Given the description of an element on the screen output the (x, y) to click on. 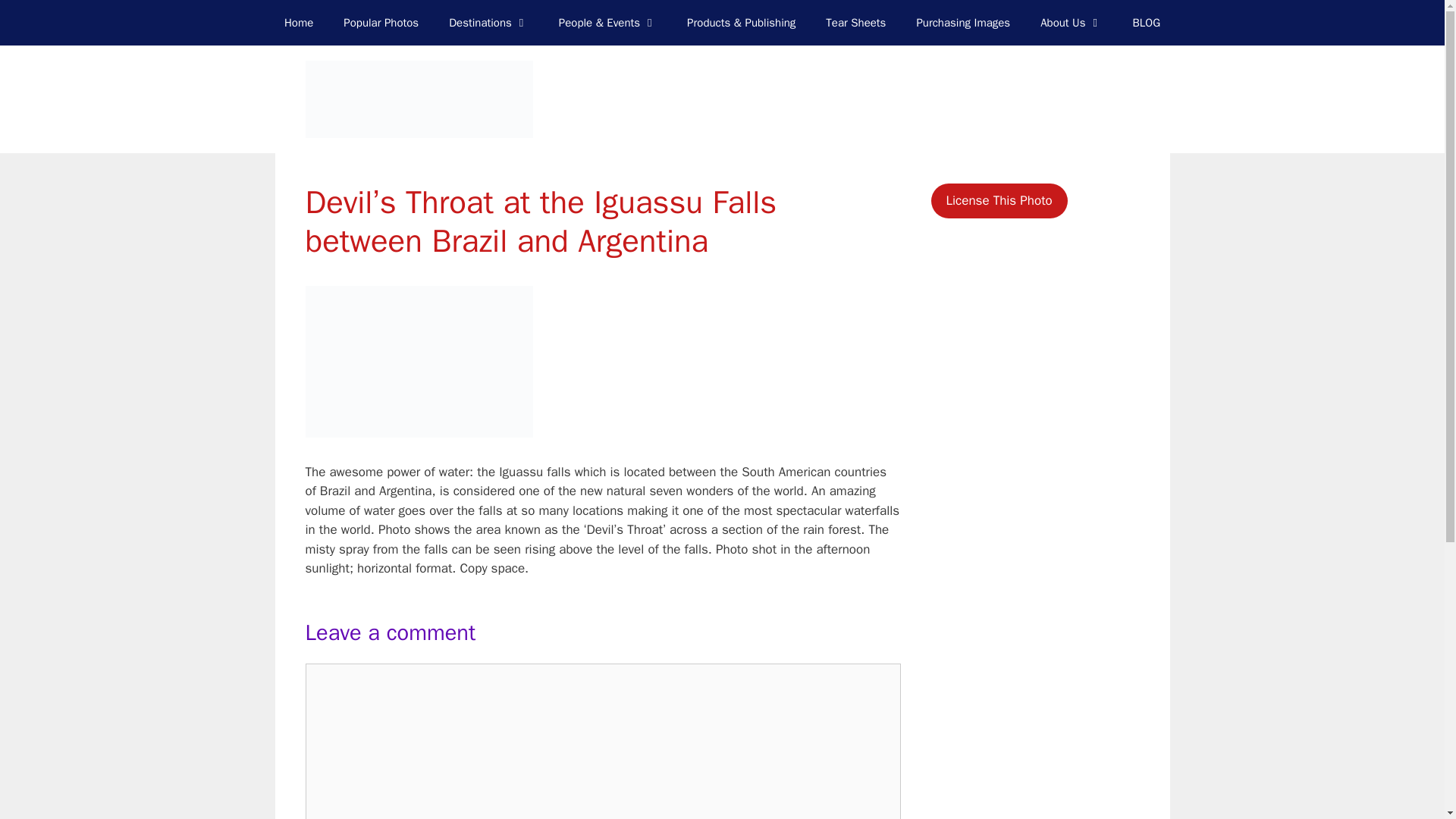
Tear Sheets (855, 22)
Destinations (488, 22)
About Us (1070, 22)
Purchasing Images (963, 22)
BLOG (1145, 22)
Popular Photos (381, 22)
Home (299, 22)
